Given the description of an element on the screen output the (x, y) to click on. 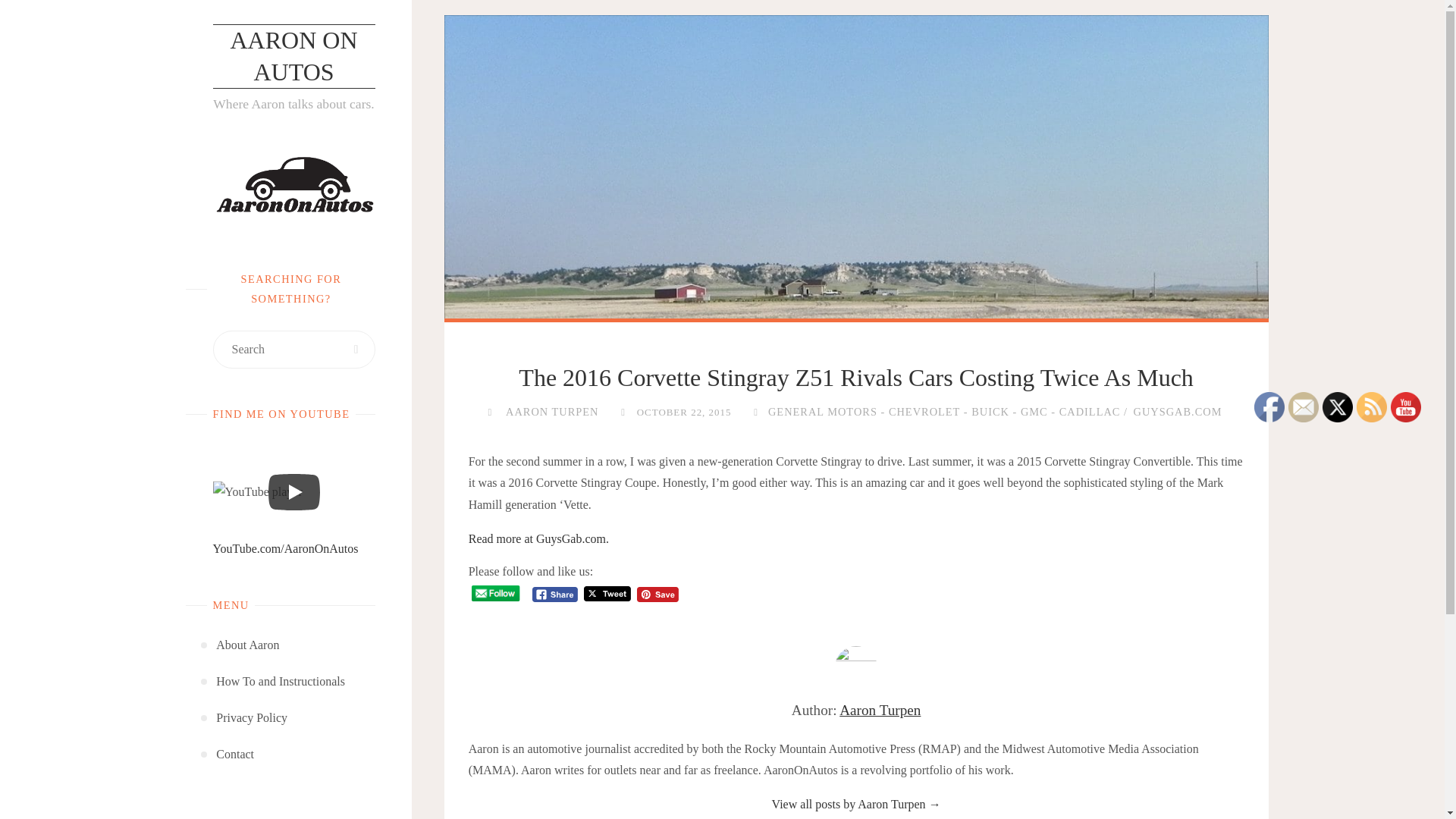
How To and Instructionals (280, 681)
Categories (755, 411)
Privacy Policy (250, 718)
Search (355, 349)
Tweet (606, 593)
View all posts by Aaron Turpen (550, 411)
GENERAL MOTORS - CHEVROLET - BUICK - GMC - CADILLAC (942, 411)
About Aaron (247, 645)
Contact (234, 754)
Facebook Share (555, 594)
